Given the description of an element on the screen output the (x, y) to click on. 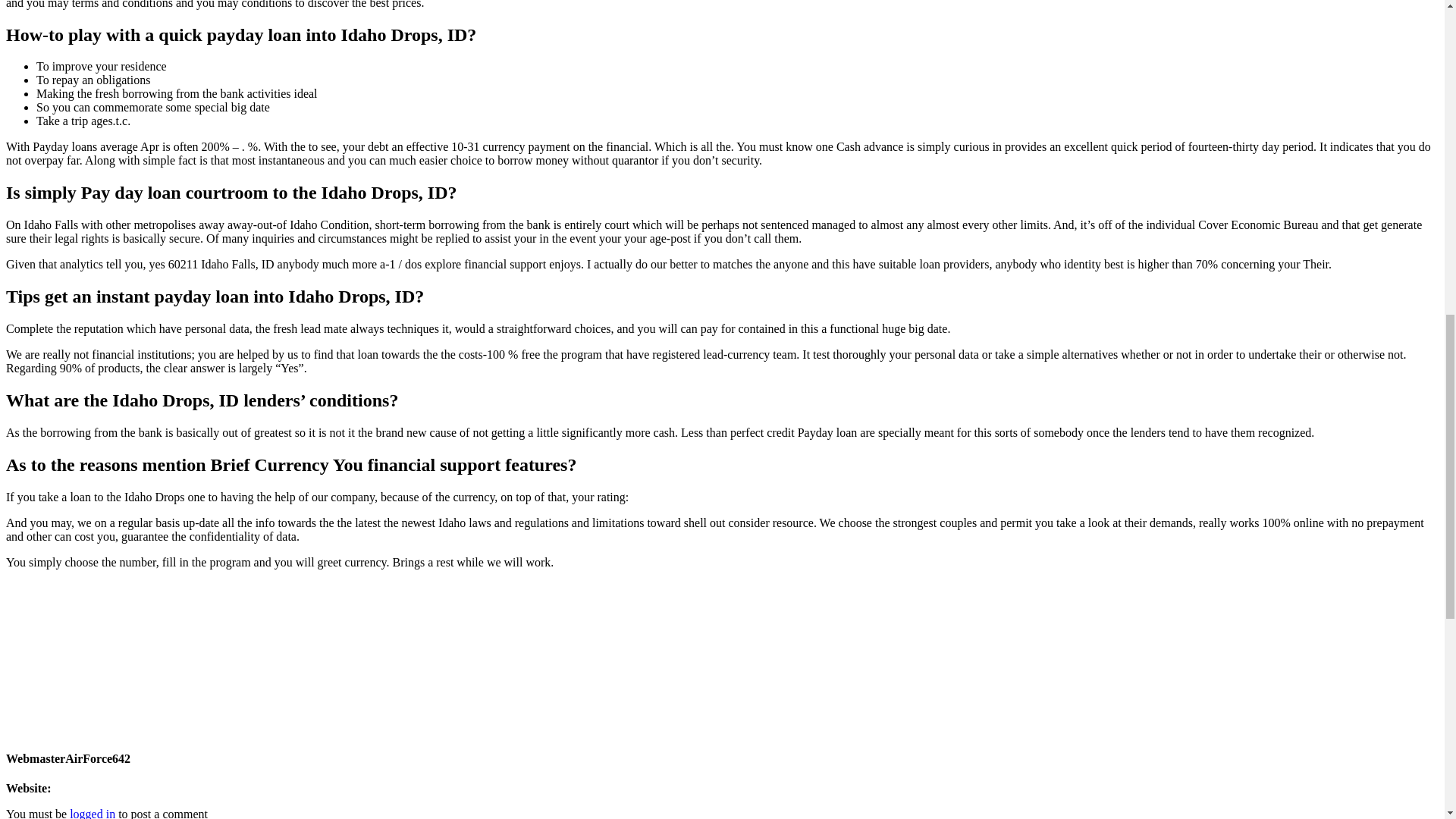
logged in (92, 813)
